Given the description of an element on the screen output the (x, y) to click on. 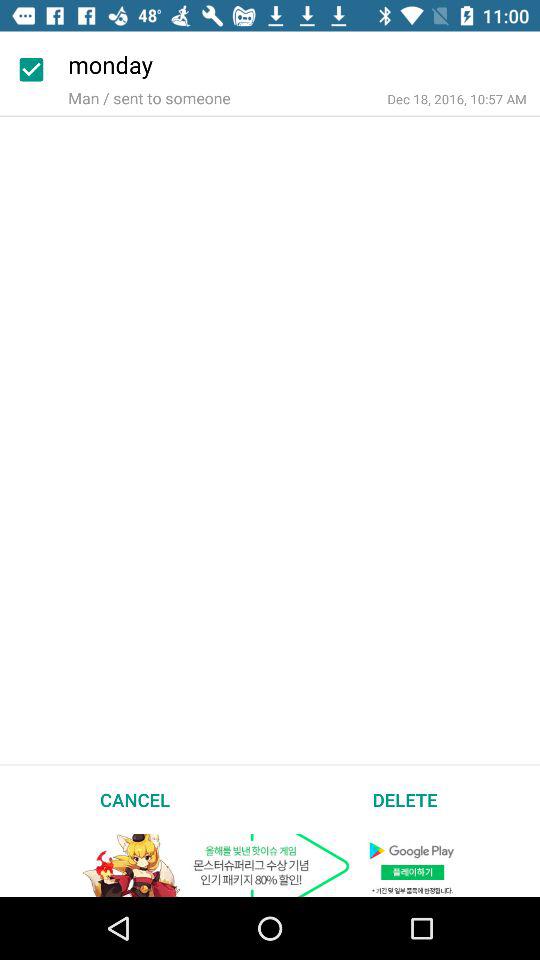
open icon next to cancel (405, 799)
